Given the description of an element on the screen output the (x, y) to click on. 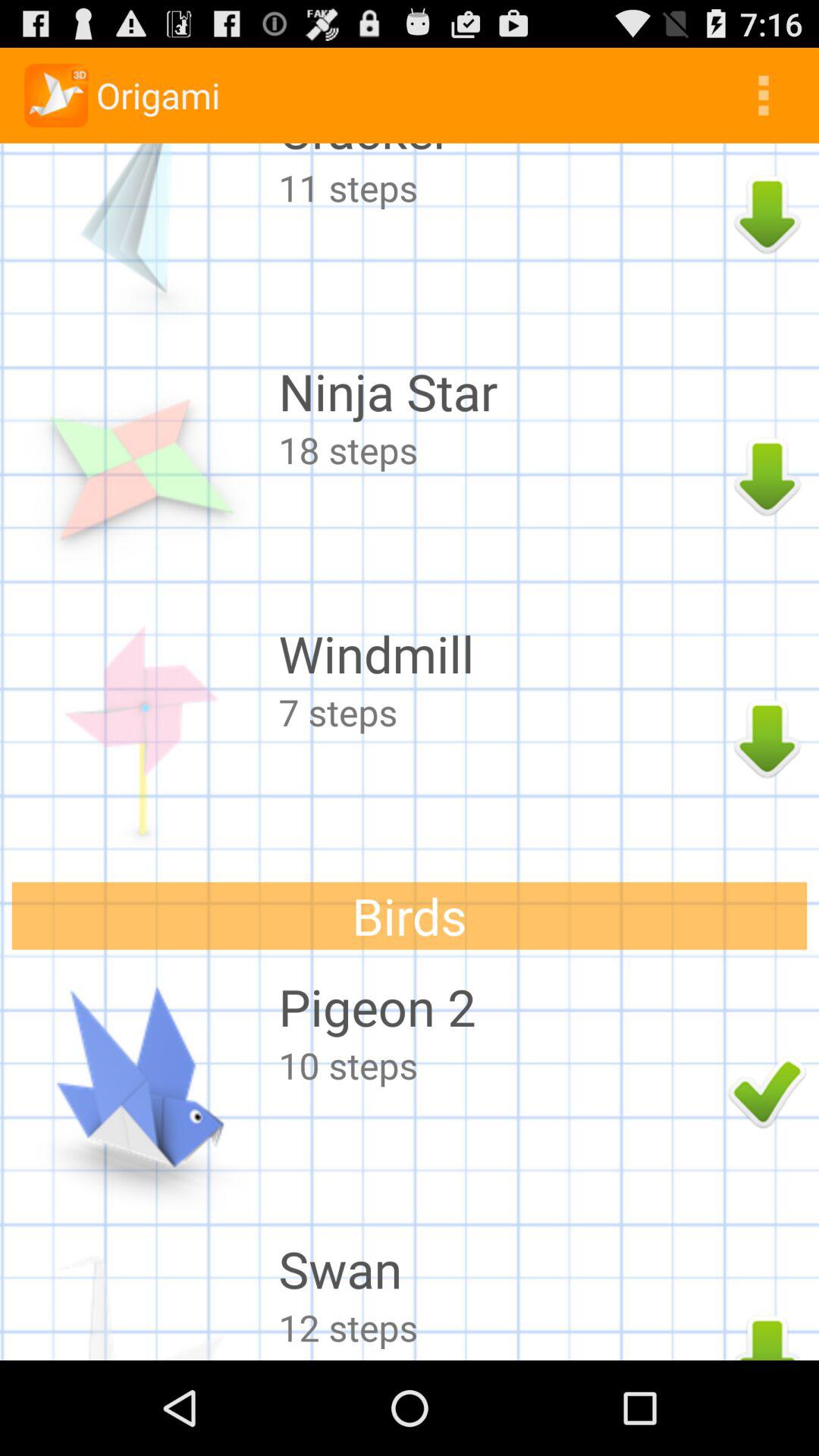
flip until the birds (409, 915)
